Given the description of an element on the screen output the (x, y) to click on. 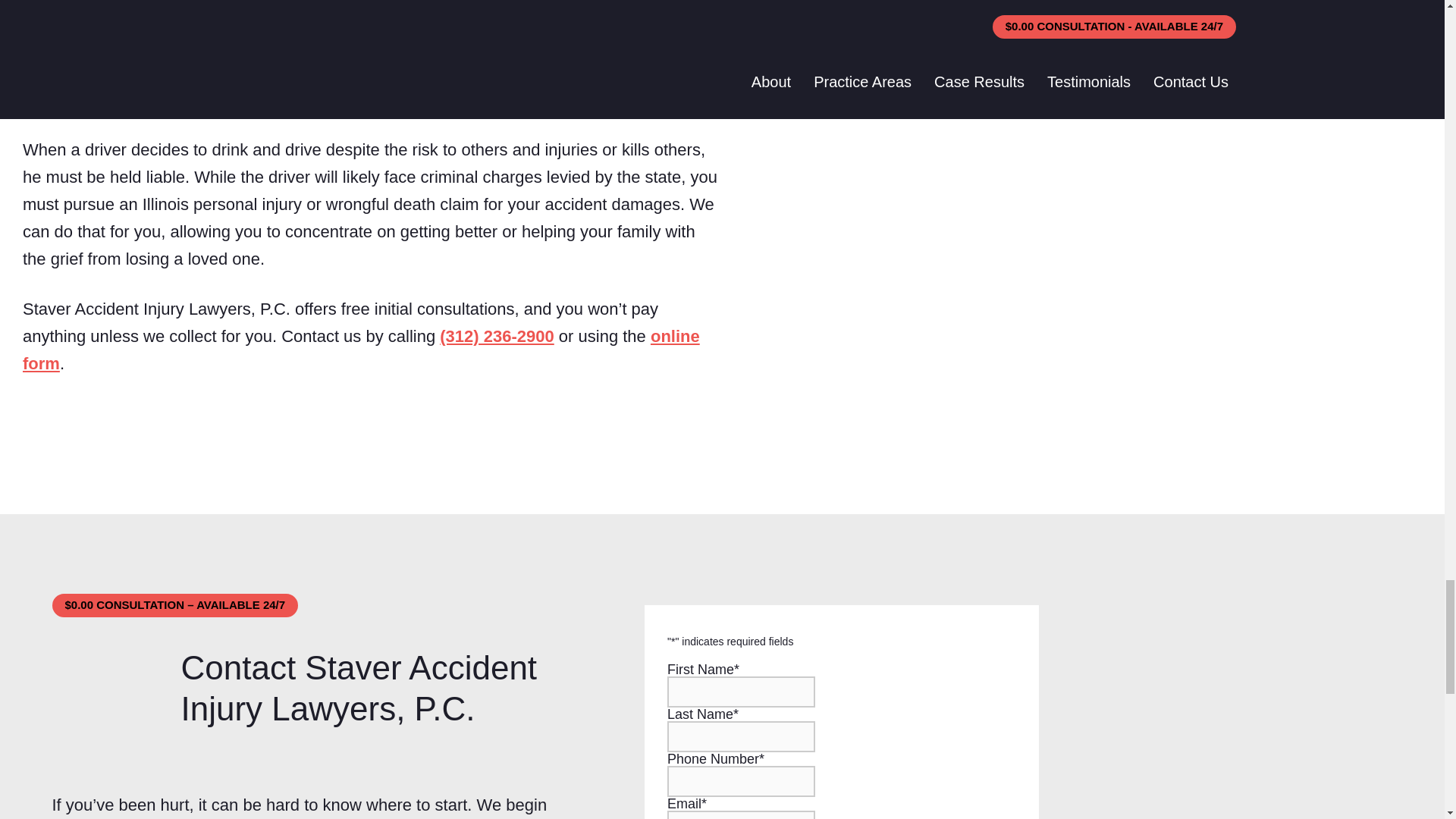
Call Staver Accident Injury Lawyers - Today (496, 335)
Contact Staver Accident Injury Lawyers - Today (361, 349)
online form (361, 349)
